Given the description of an element on the screen output the (x, y) to click on. 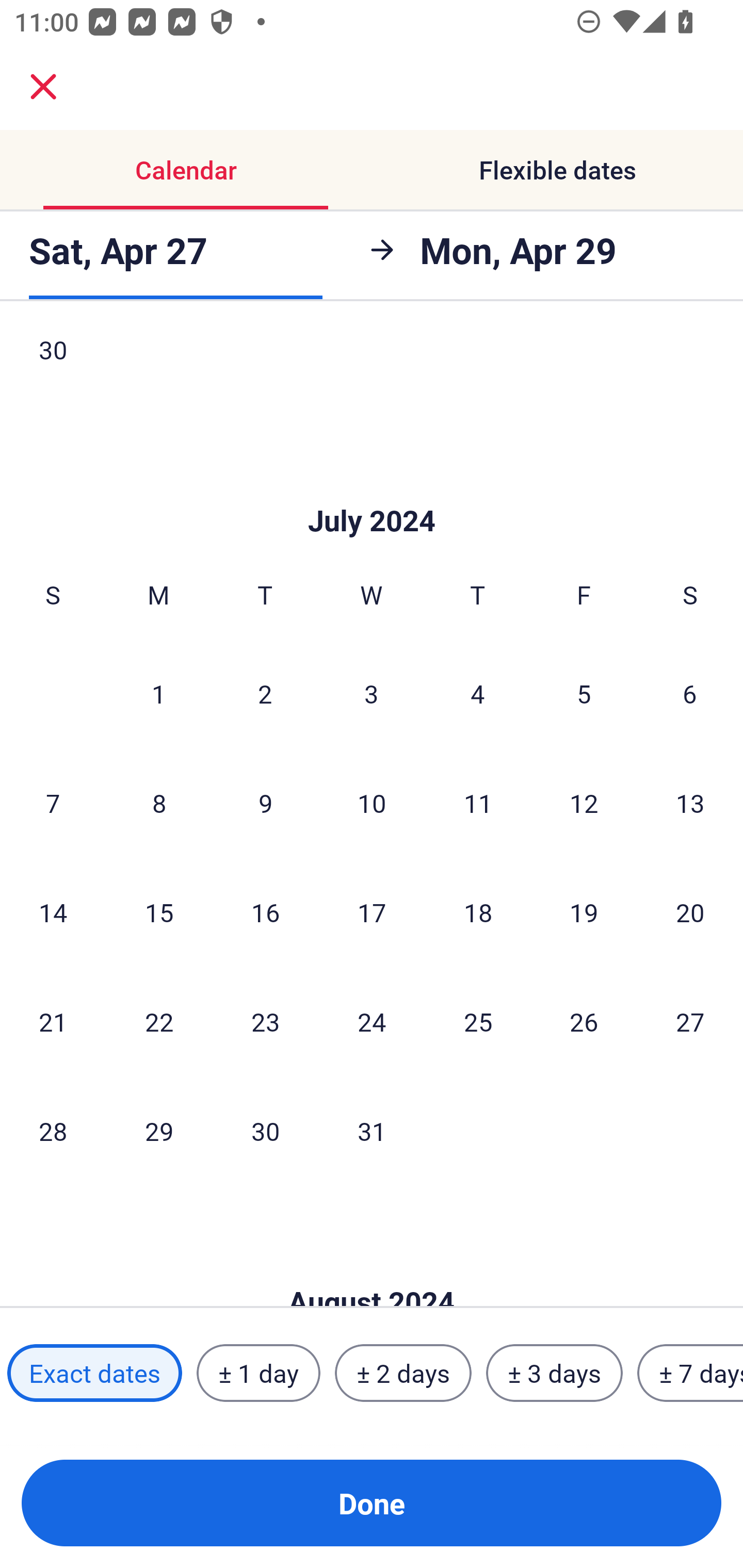
close. (43, 86)
Flexible dates (557, 170)
30 Sunday, June 30, 2024 (53, 366)
Skip to Done (371, 489)
1 Monday, July 1, 2024 (158, 693)
2 Tuesday, July 2, 2024 (264, 693)
3 Wednesday, July 3, 2024 (371, 693)
4 Thursday, July 4, 2024 (477, 693)
5 Friday, July 5, 2024 (583, 693)
6 Saturday, July 6, 2024 (689, 693)
7 Sunday, July 7, 2024 (53, 802)
8 Monday, July 8, 2024 (159, 802)
9 Tuesday, July 9, 2024 (265, 802)
10 Wednesday, July 10, 2024 (371, 802)
11 Thursday, July 11, 2024 (477, 802)
12 Friday, July 12, 2024 (584, 802)
13 Saturday, July 13, 2024 (690, 802)
14 Sunday, July 14, 2024 (53, 911)
15 Monday, July 15, 2024 (159, 911)
16 Tuesday, July 16, 2024 (265, 911)
17 Wednesday, July 17, 2024 (371, 911)
18 Thursday, July 18, 2024 (477, 911)
19 Friday, July 19, 2024 (584, 911)
20 Saturday, July 20, 2024 (690, 911)
21 Sunday, July 21, 2024 (53, 1021)
22 Monday, July 22, 2024 (159, 1021)
23 Tuesday, July 23, 2024 (265, 1021)
24 Wednesday, July 24, 2024 (371, 1021)
25 Thursday, July 25, 2024 (477, 1021)
26 Friday, July 26, 2024 (584, 1021)
27 Saturday, July 27, 2024 (690, 1021)
28 Sunday, July 28, 2024 (53, 1130)
29 Monday, July 29, 2024 (159, 1130)
30 Tuesday, July 30, 2024 (265, 1130)
31 Wednesday, July 31, 2024 (371, 1130)
Exact dates (94, 1372)
± 1 day (258, 1372)
± 2 days (403, 1372)
± 3 days (553, 1372)
± 7 days (690, 1372)
Done (371, 1502)
